Given the description of an element on the screen output the (x, y) to click on. 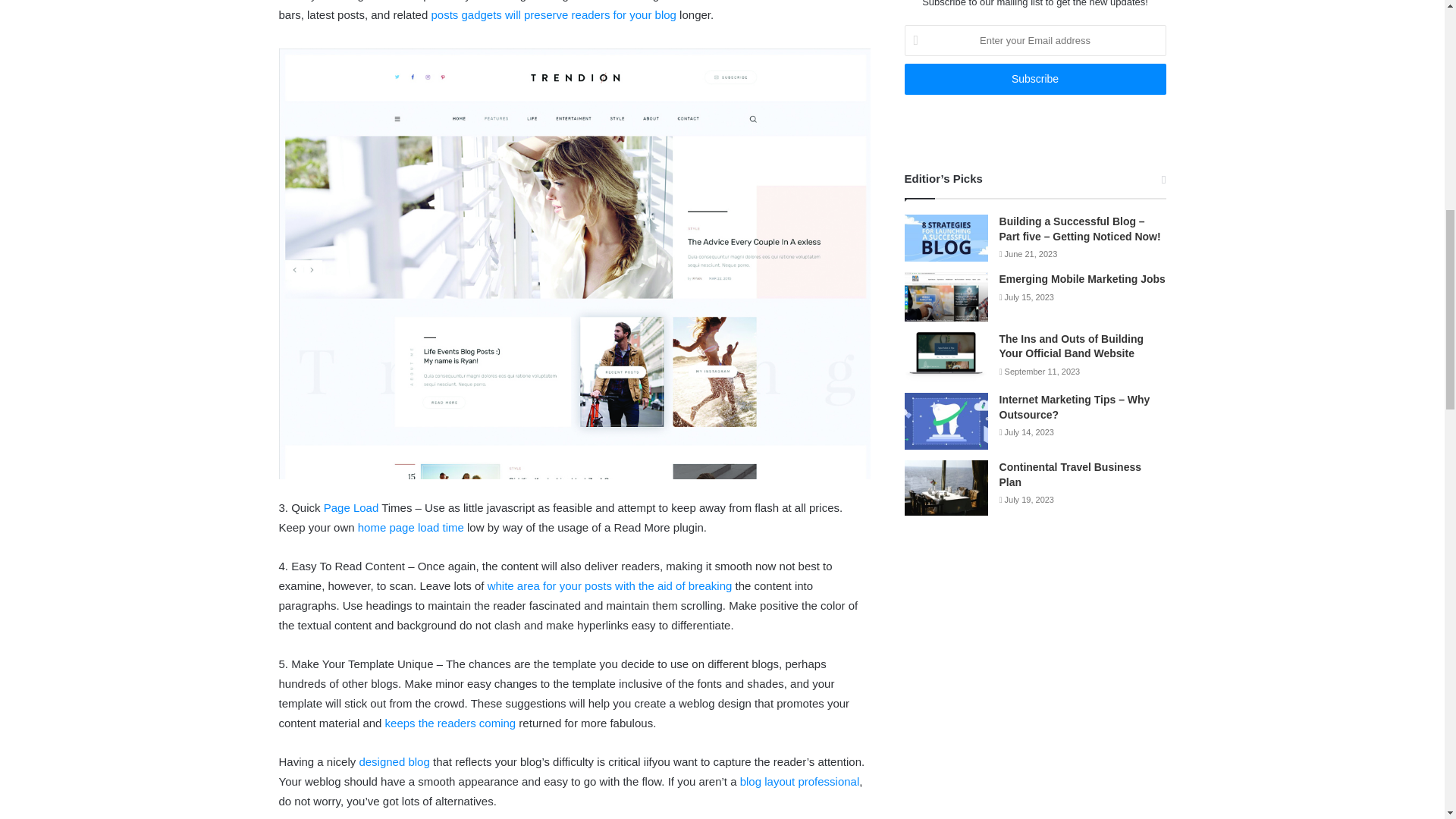
Subscribe (1035, 79)
